Given the description of an element on the screen output the (x, y) to click on. 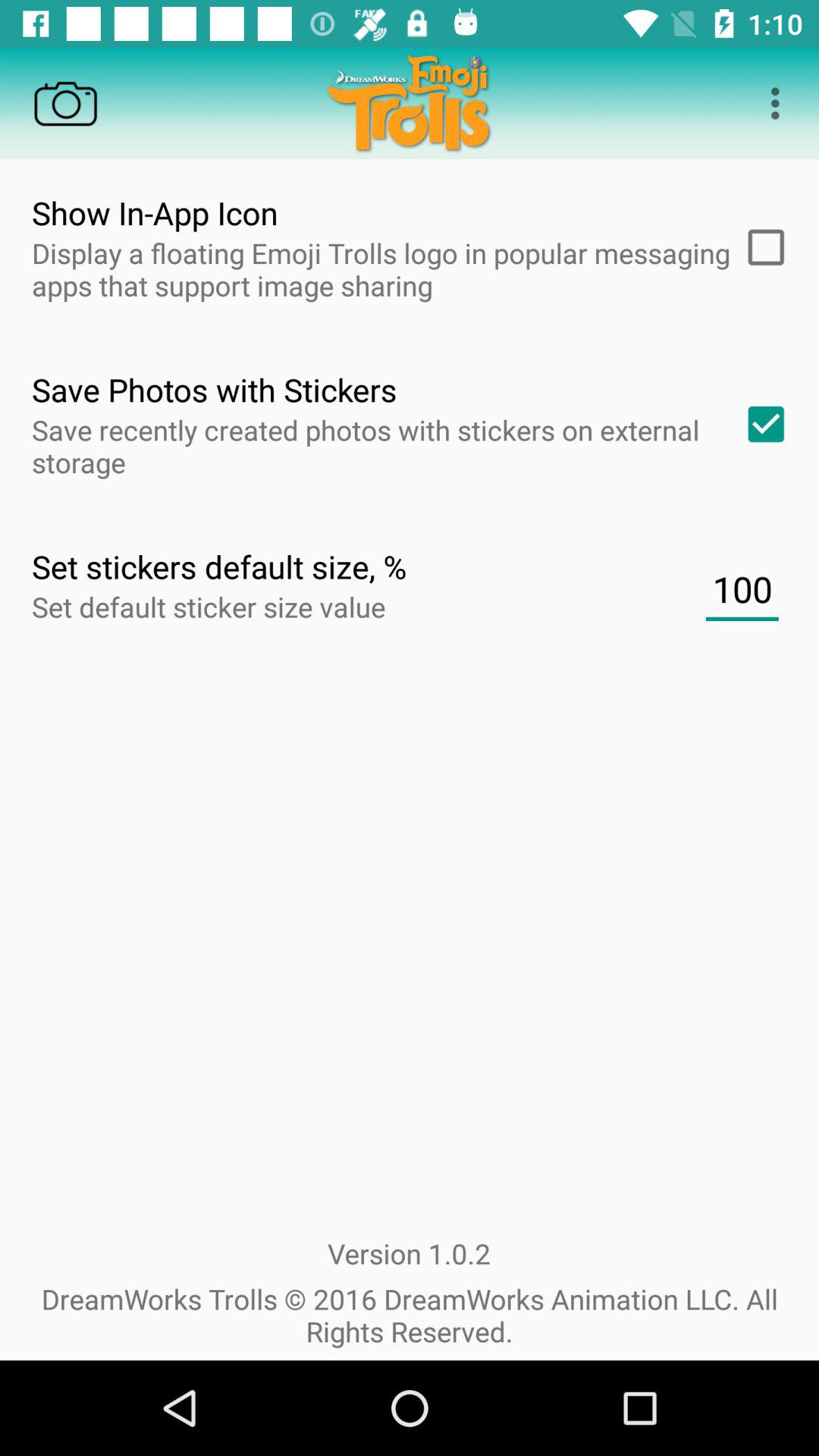
select one (760, 424)
